Given the description of an element on the screen output the (x, y) to click on. 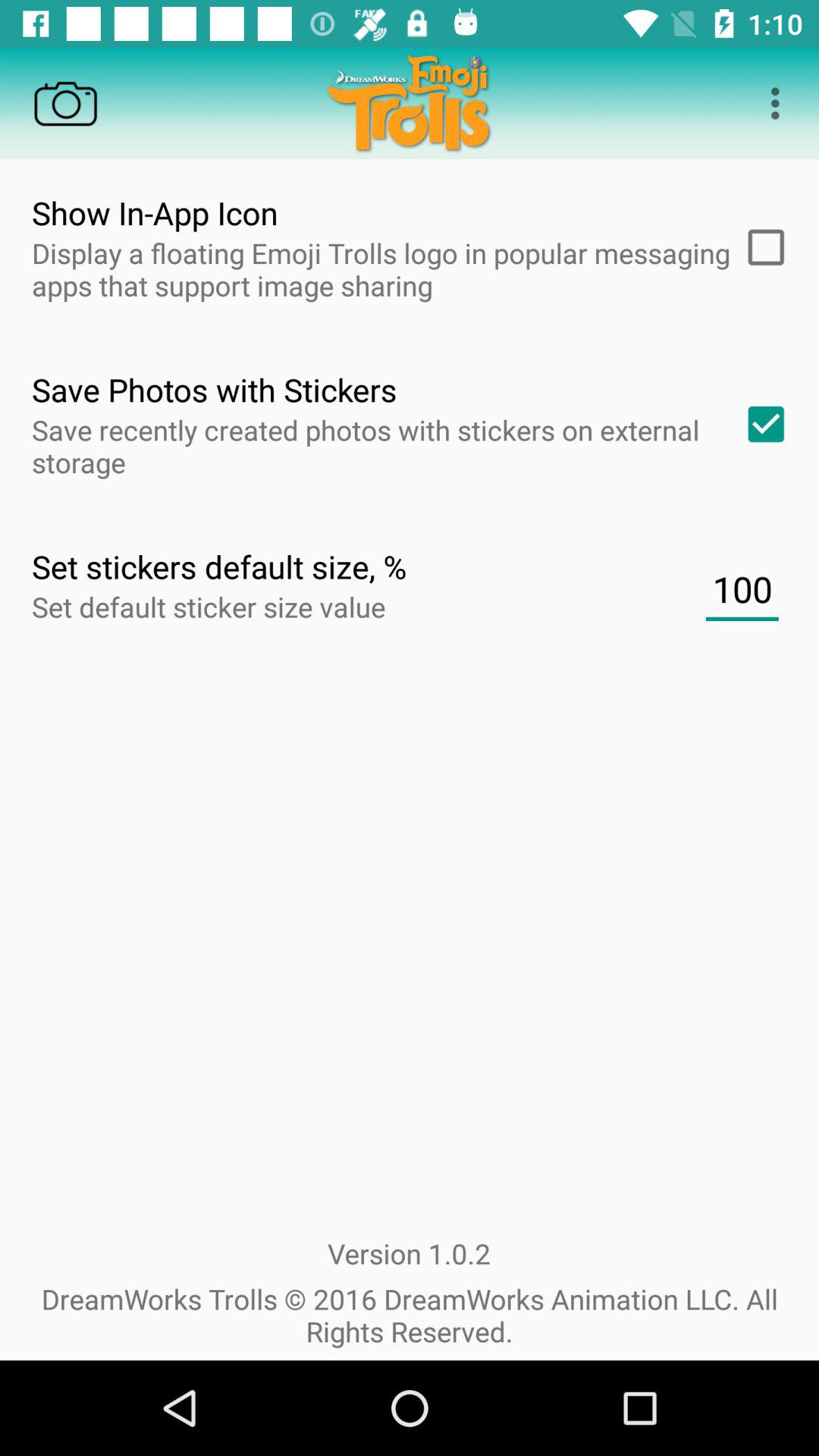
select one (760, 424)
